Given the description of an element on the screen output the (x, y) to click on. 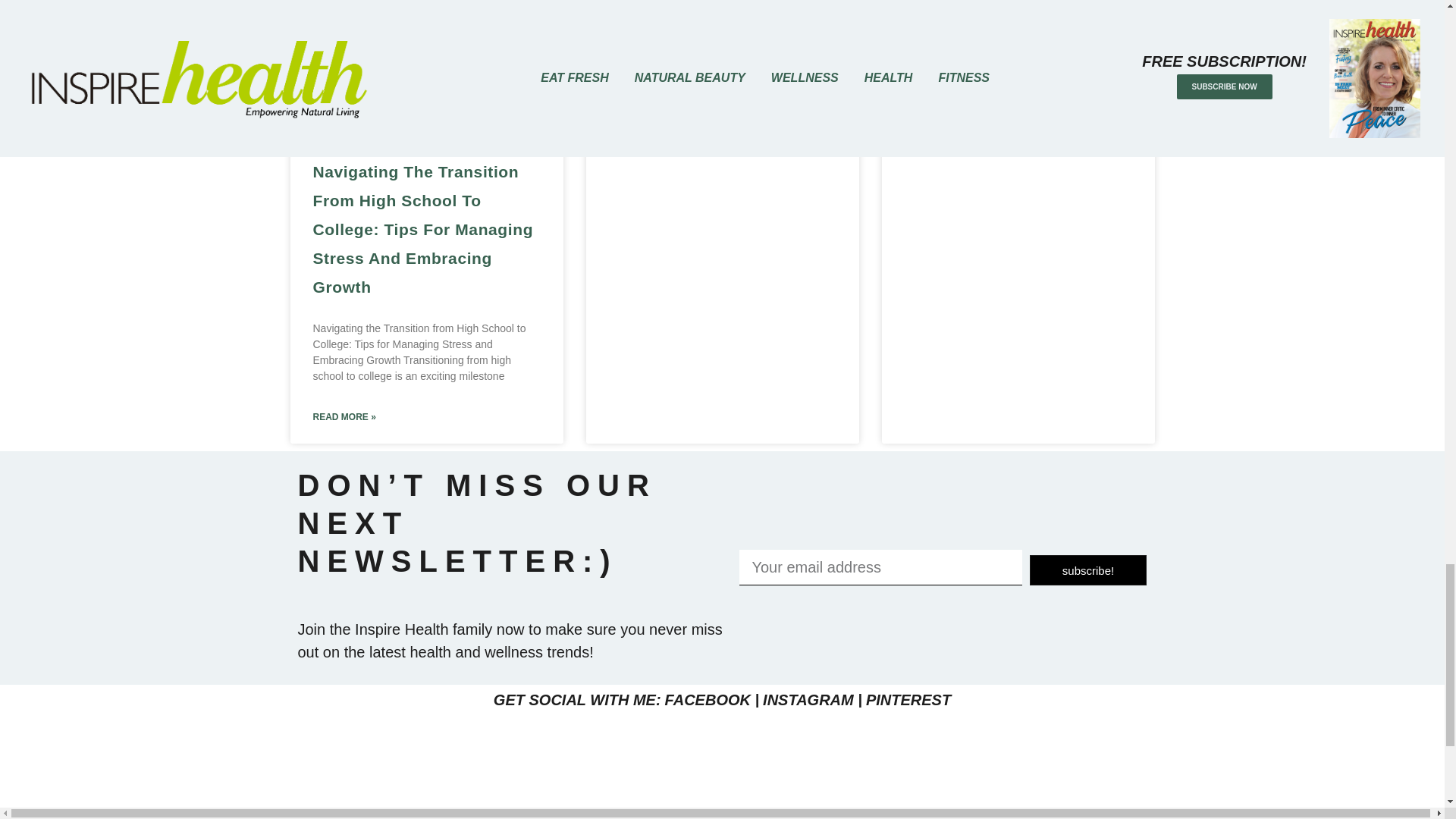
Horlicks: A Flavorful Blend Of Health And Heritage (1011, 6)
Craft Your Own Nutrient-Packed Elixir (706, 6)
